Given the description of an element on the screen output the (x, y) to click on. 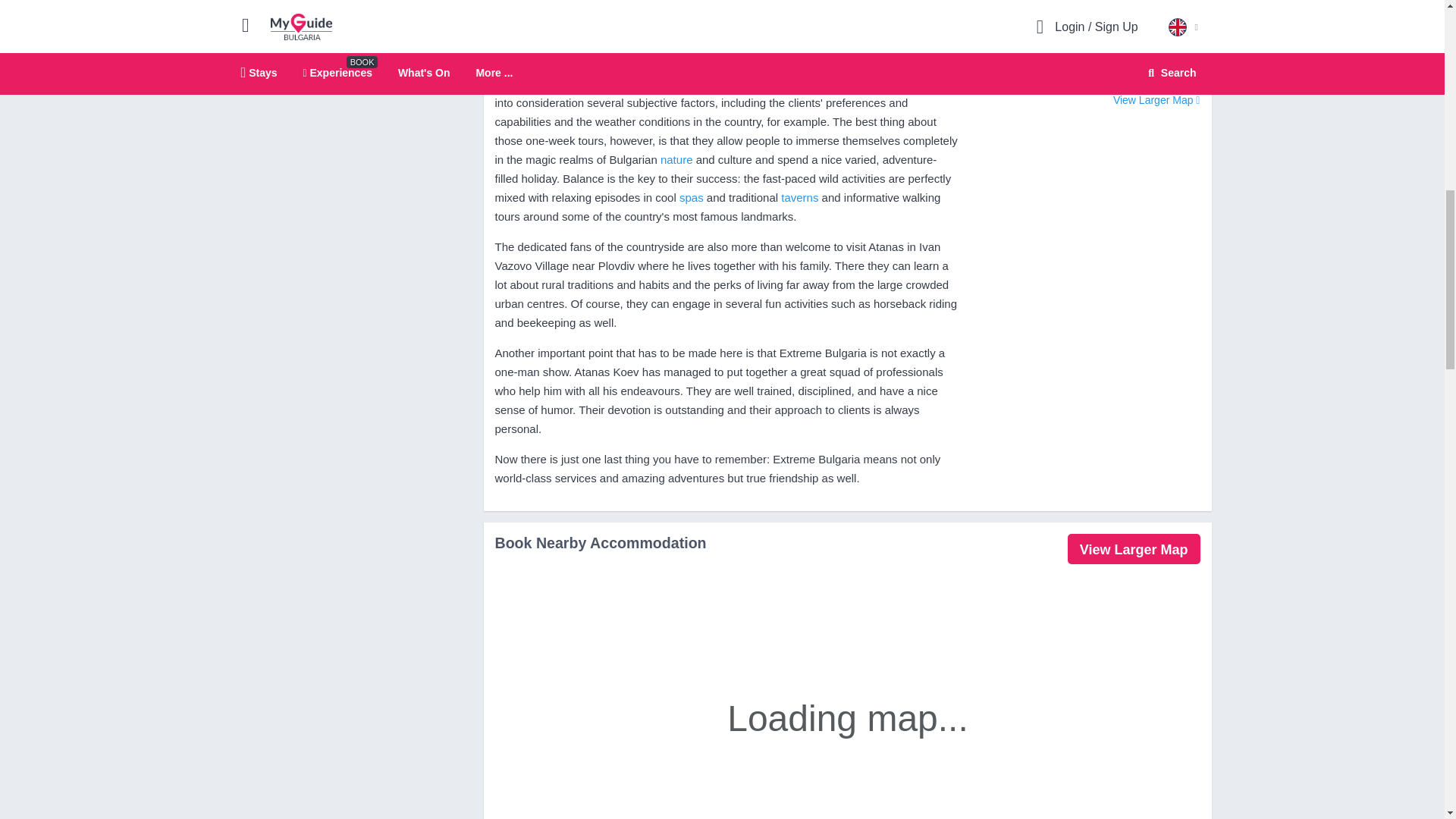
Larger Map for Company: eXtreme Bulgaria Bulgaria (1156, 100)
A JS library for interactive maps (1182, 76)
Larger Map for Company: eXtreme Bulgaria Bulgaria (1133, 548)
